Given the description of an element on the screen output the (x, y) to click on. 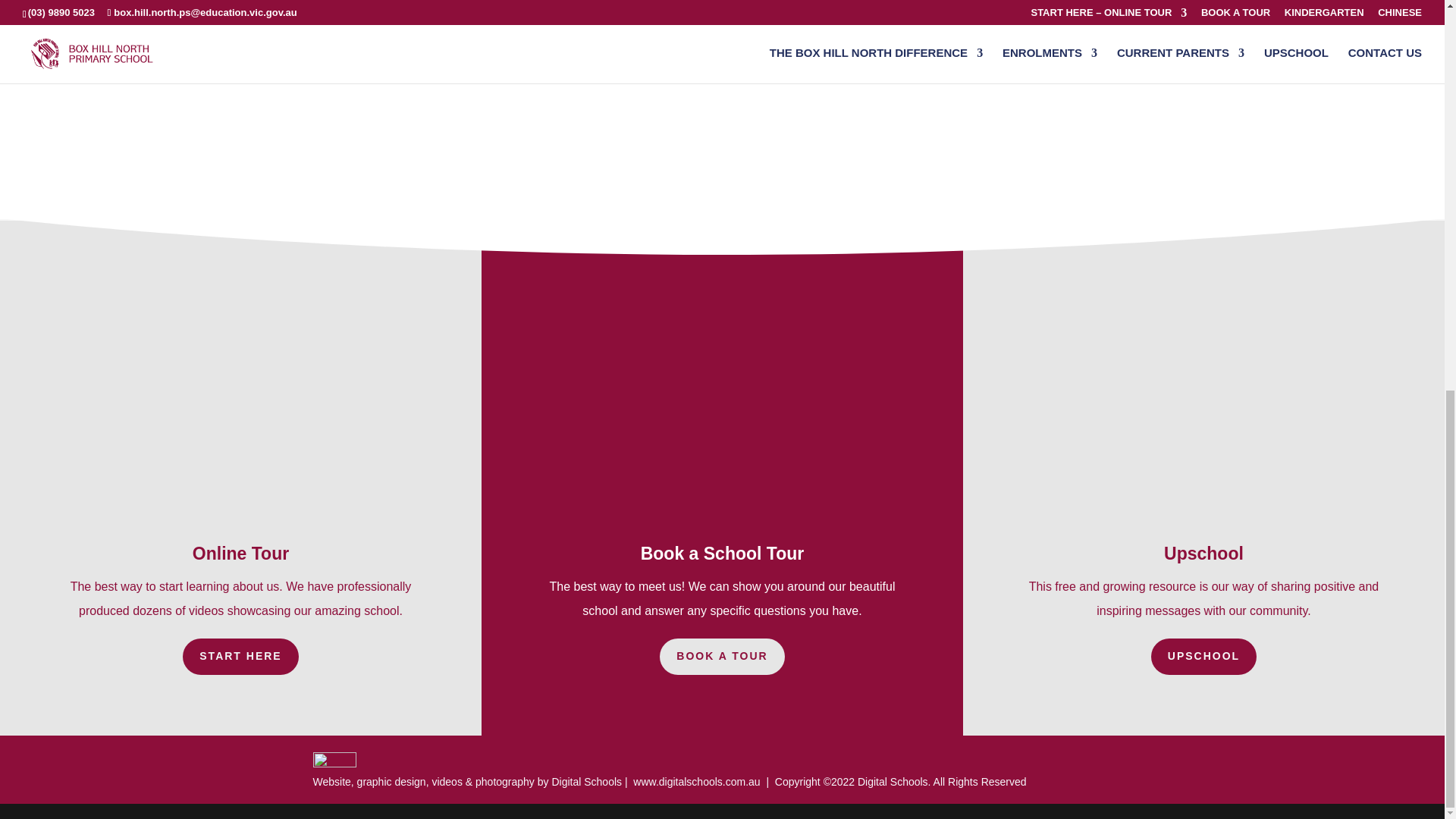
Box Hill - Online Tour (1035, 79)
